Given the description of an element on the screen output the (x, y) to click on. 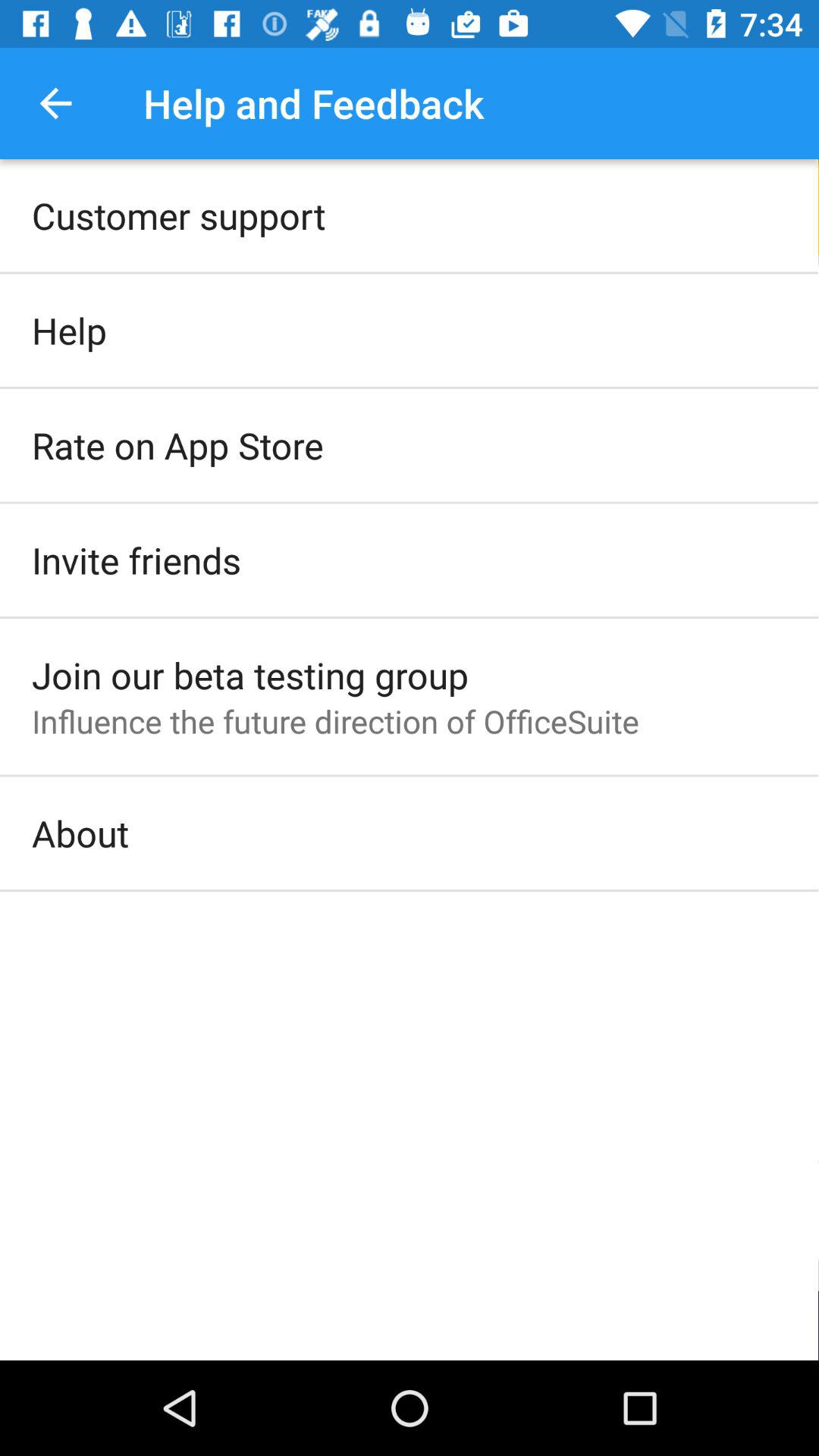
click the app to the left of help and feedback icon (55, 103)
